Given the description of an element on the screen output the (x, y) to click on. 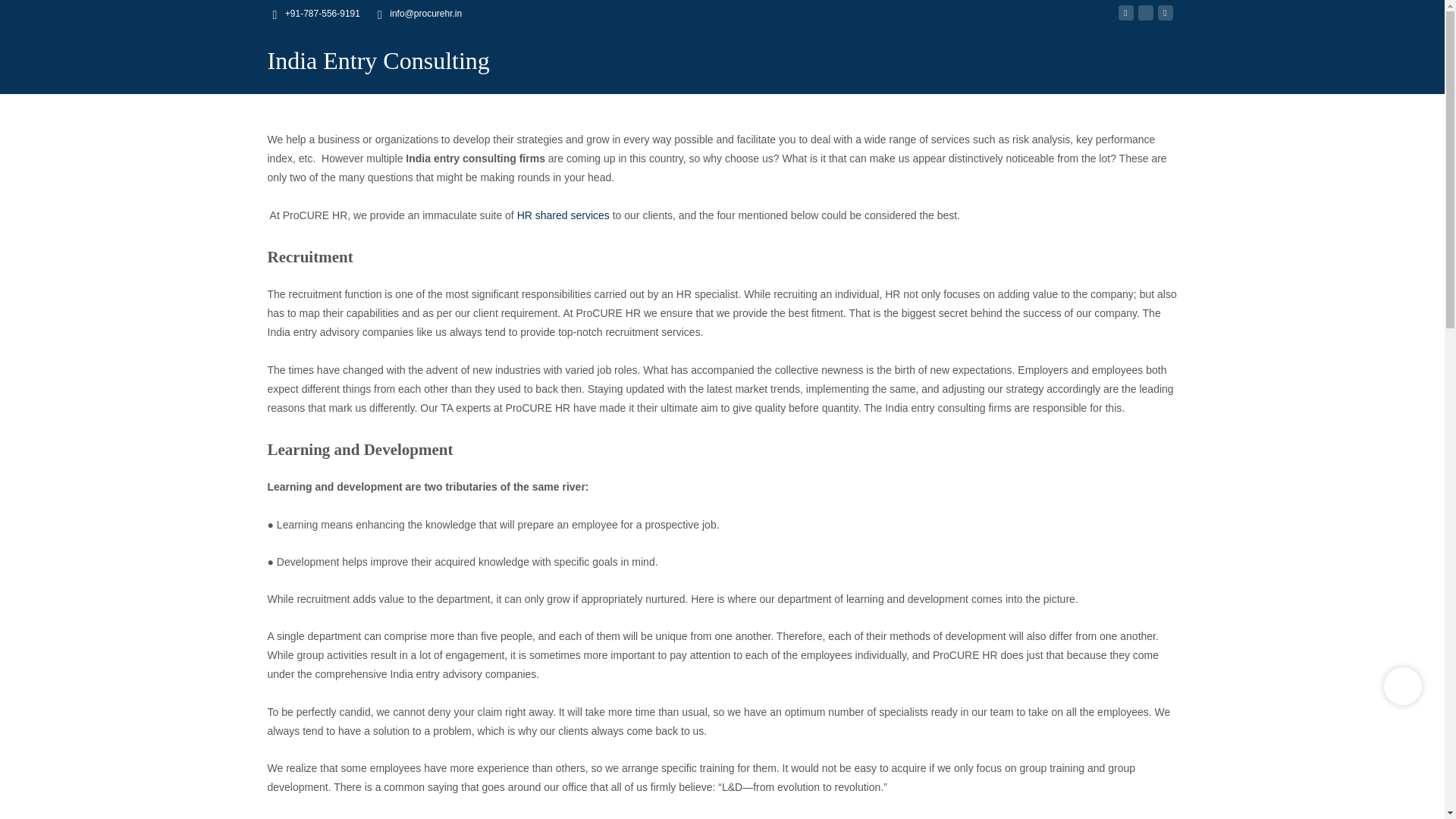
HR shared services (563, 215)
facebook (1125, 19)
linkedin (1164, 19)
instagram (1145, 19)
